Given the description of an element on the screen output the (x, y) to click on. 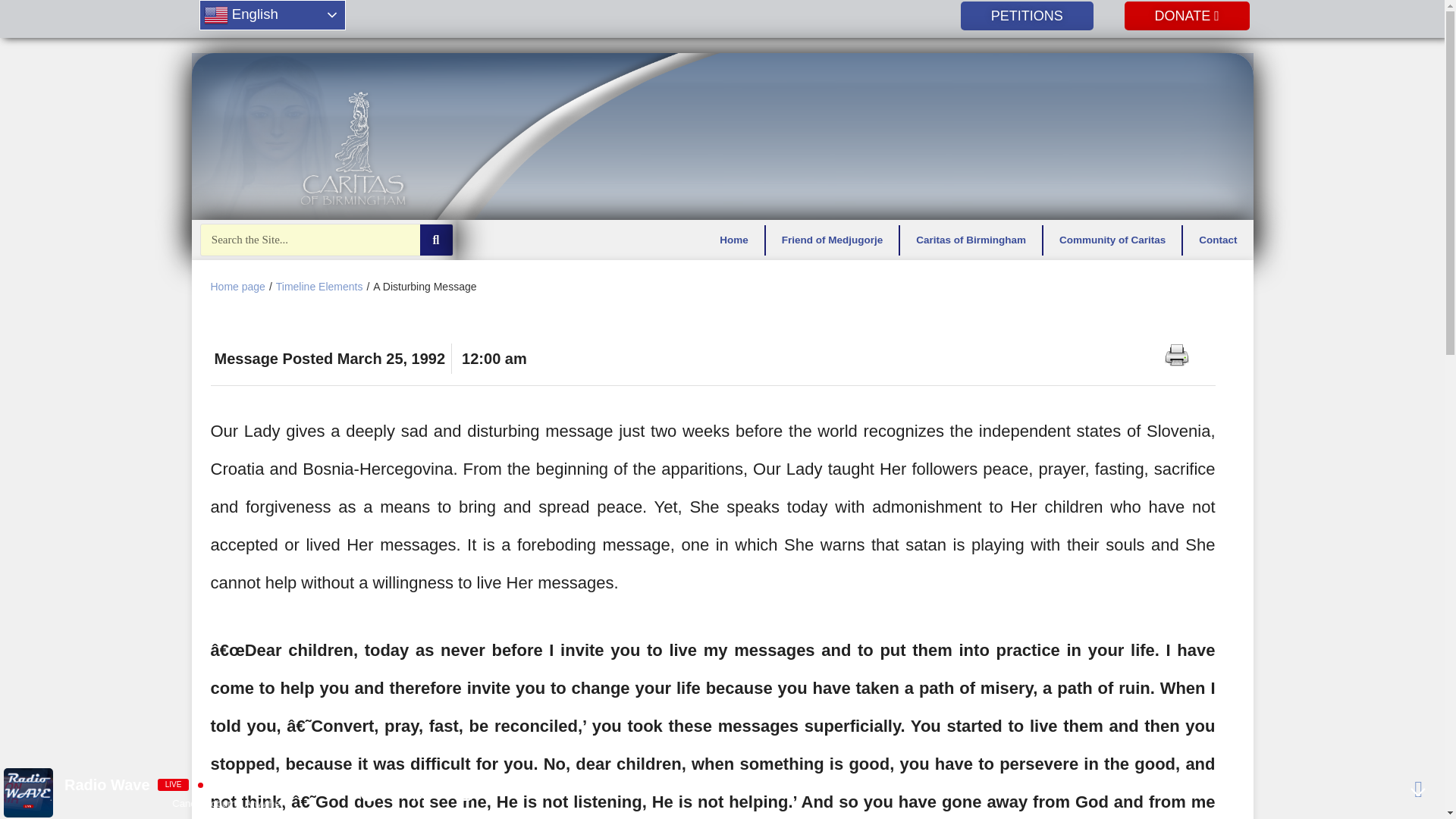
Friend of Medjugorje (832, 239)
Caritas of Birmingham (970, 239)
English (271, 15)
Home (733, 239)
PETITIONS (1026, 15)
DONATE (1186, 15)
